Given the description of an element on the screen output the (x, y) to click on. 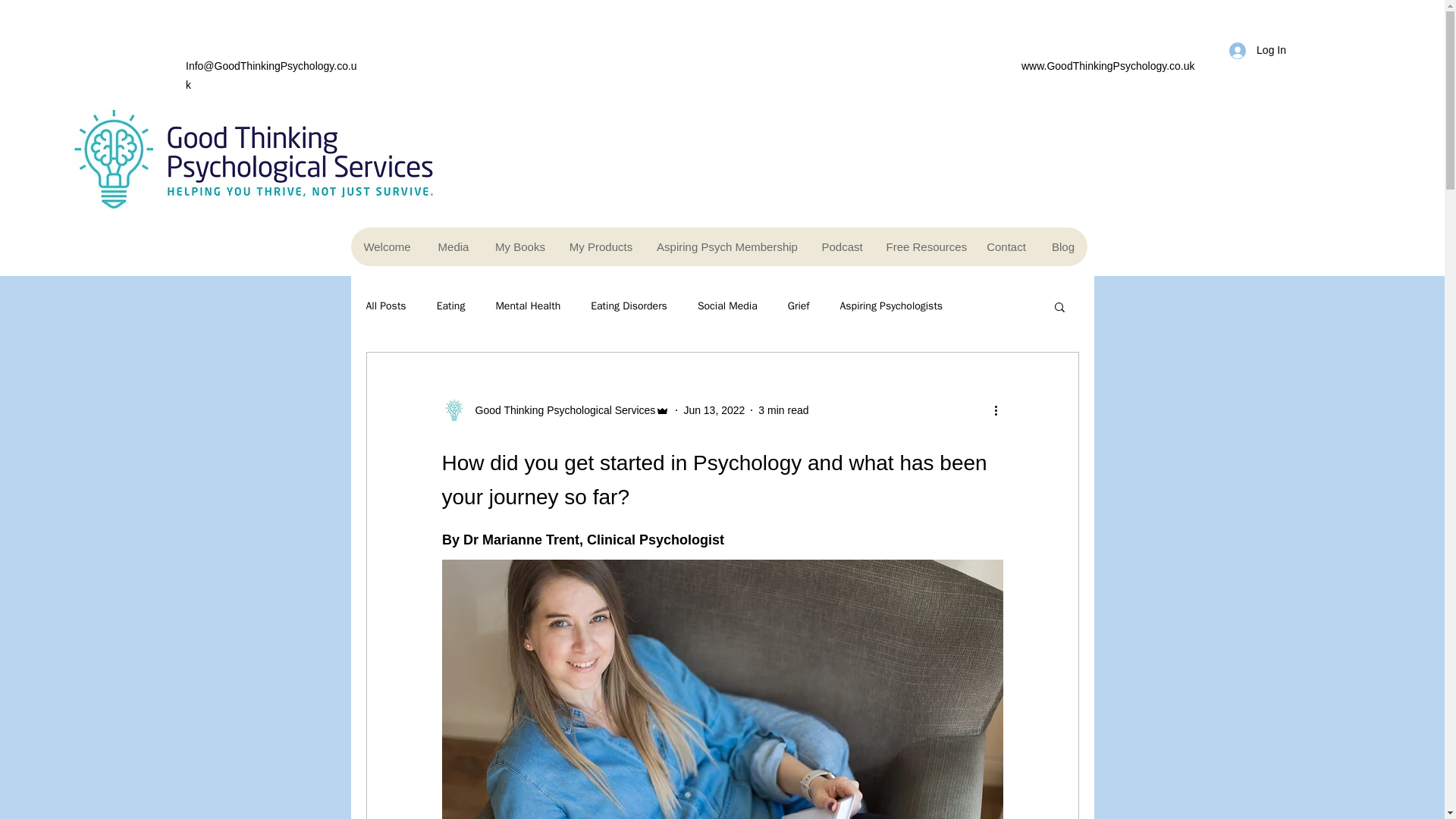
Grief (798, 305)
All Posts (385, 305)
Podcast (842, 246)
Contact (1006, 246)
My Products (599, 246)
Media (452, 246)
Aspiring Psych Membership (727, 246)
Social Media (727, 305)
Aspiring Psychologists (891, 305)
Mental Health (527, 305)
